Given the description of an element on the screen output the (x, y) to click on. 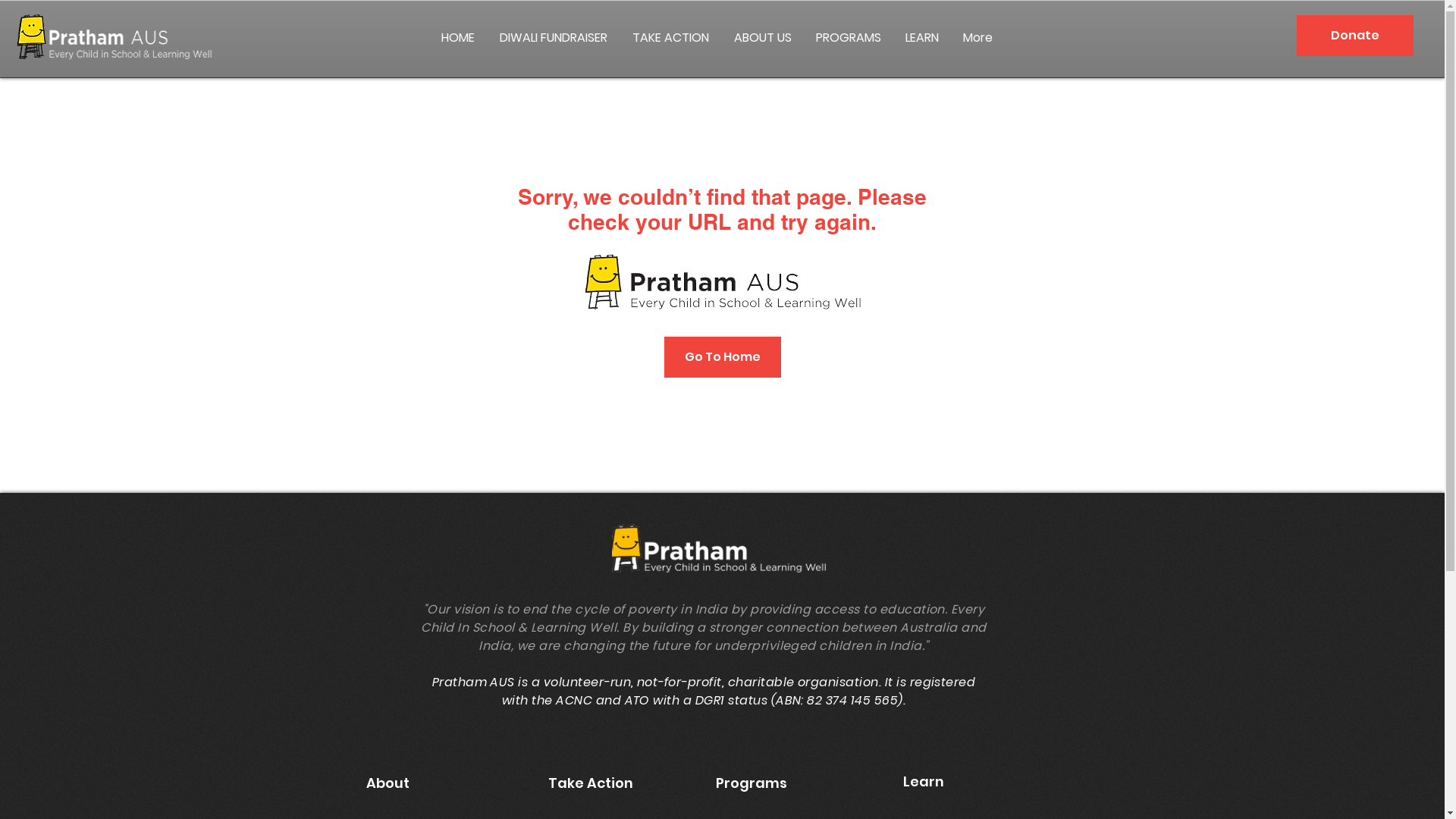
Donate Element type: text (1354, 35)
DIWALI FUNDRAISER Element type: text (554, 37)
LEARN Element type: text (921, 37)
TAKE ACTION Element type: text (670, 37)
PROGRAMS Element type: text (848, 37)
ABOUT US Element type: text (762, 37)
HOME Element type: text (458, 37)
Go To Home Element type: text (722, 356)
